Given the description of an element on the screen output the (x, y) to click on. 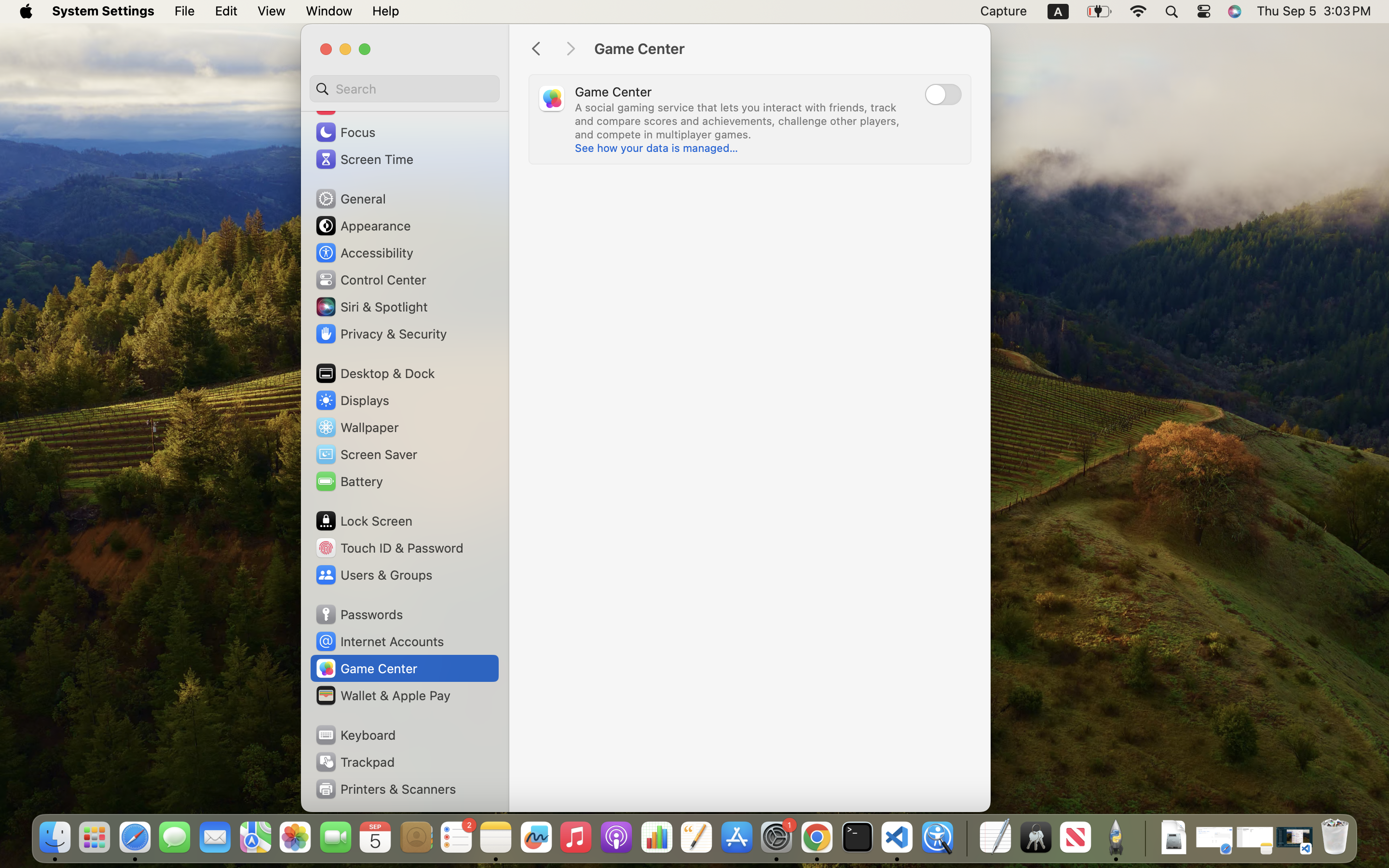
Keyboard Element type: AXStaticText (354, 734)
Sound Element type: AXStaticText (346, 104)
Internet Accounts Element type: AXStaticText (378, 640)
Game Center Element type: AXStaticText (782, 49)
A social gaming service that lets you interact with friends, track and compare scores and achievements, challenge other players, and compete in multiplayer games. Element type: AXStaticText (738, 120)
